Given the description of an element on the screen output the (x, y) to click on. 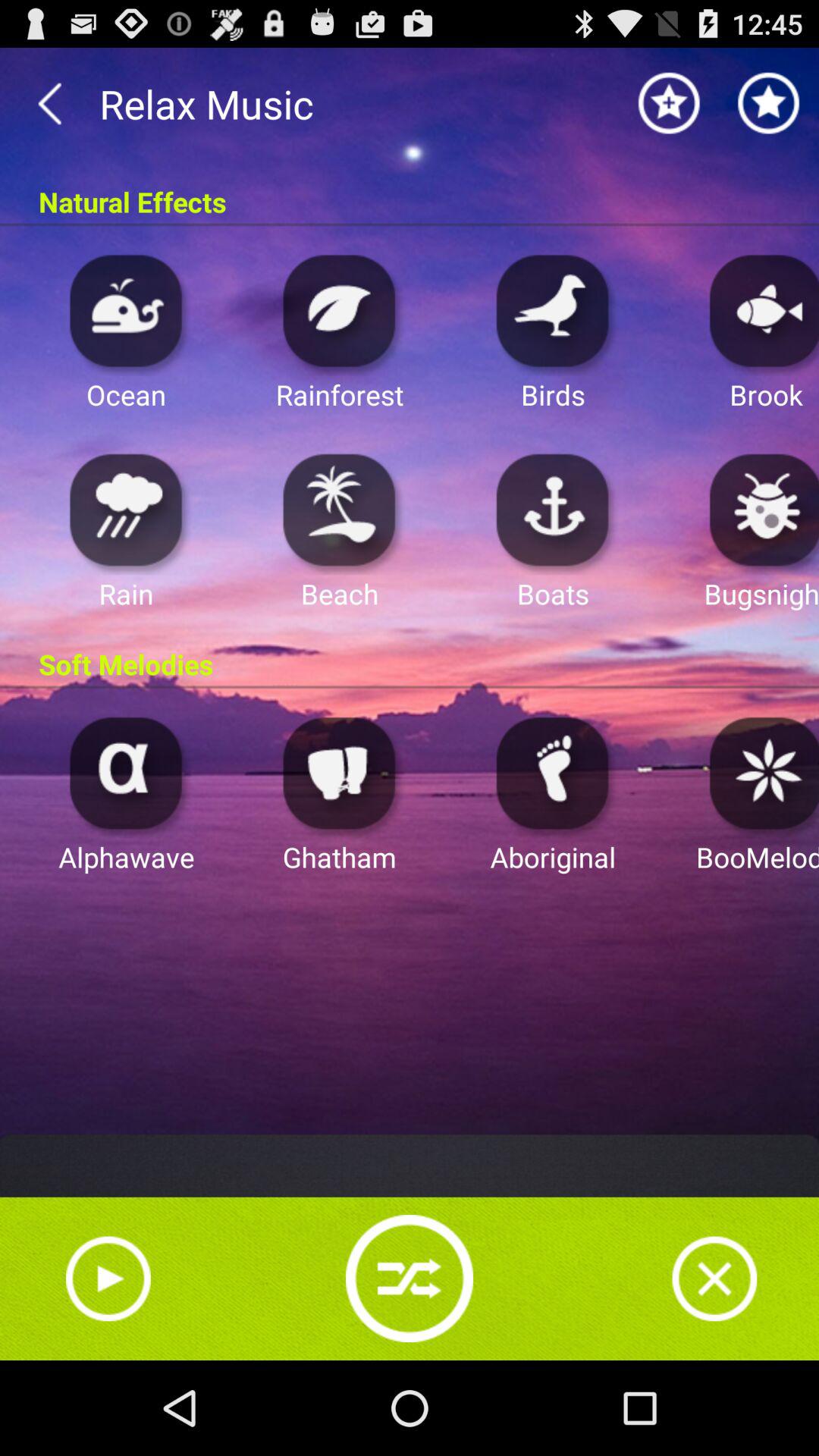
play boats sound (552, 509)
